Given the description of an element on the screen output the (x, y) to click on. 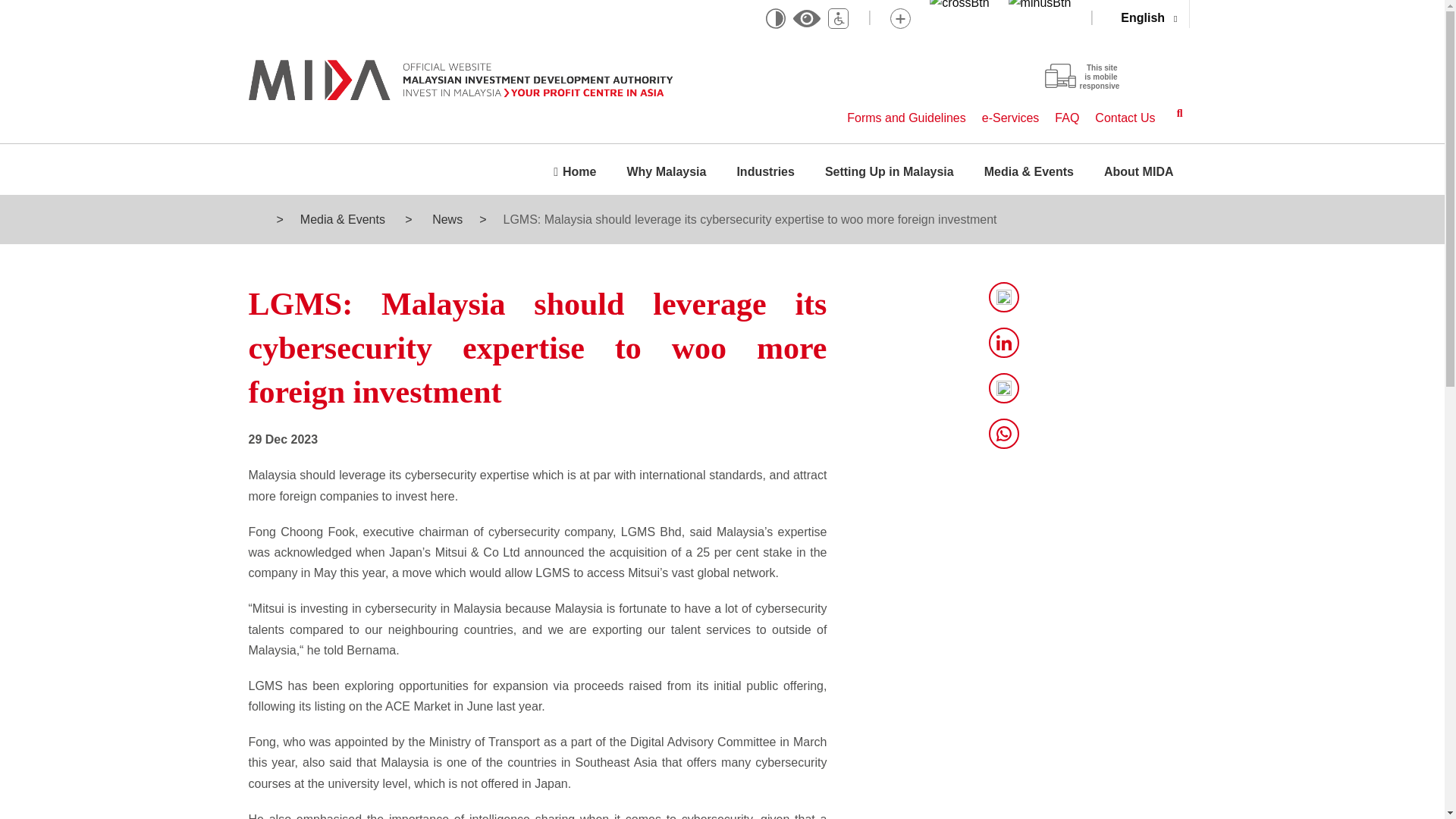
Facebook (1003, 388)
WhatsApp (1003, 433)
LinkedIn (1003, 342)
Twitter (1003, 296)
Go to News (446, 219)
